Given the description of an element on the screen output the (x, y) to click on. 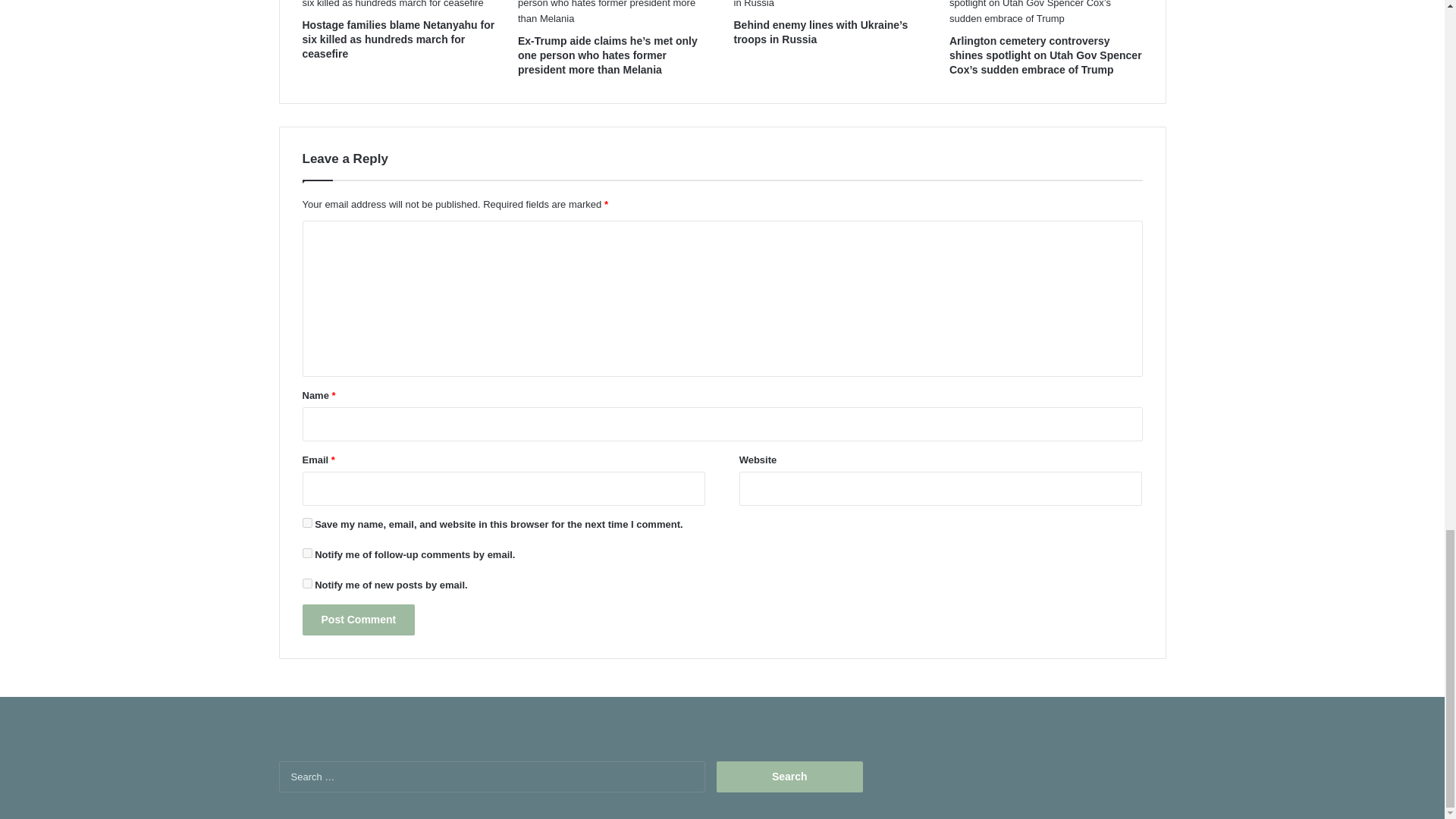
Post Comment (357, 619)
Search (789, 776)
subscribe (306, 583)
subscribe (306, 552)
yes (306, 522)
Search (789, 776)
